Given the description of an element on the screen output the (x, y) to click on. 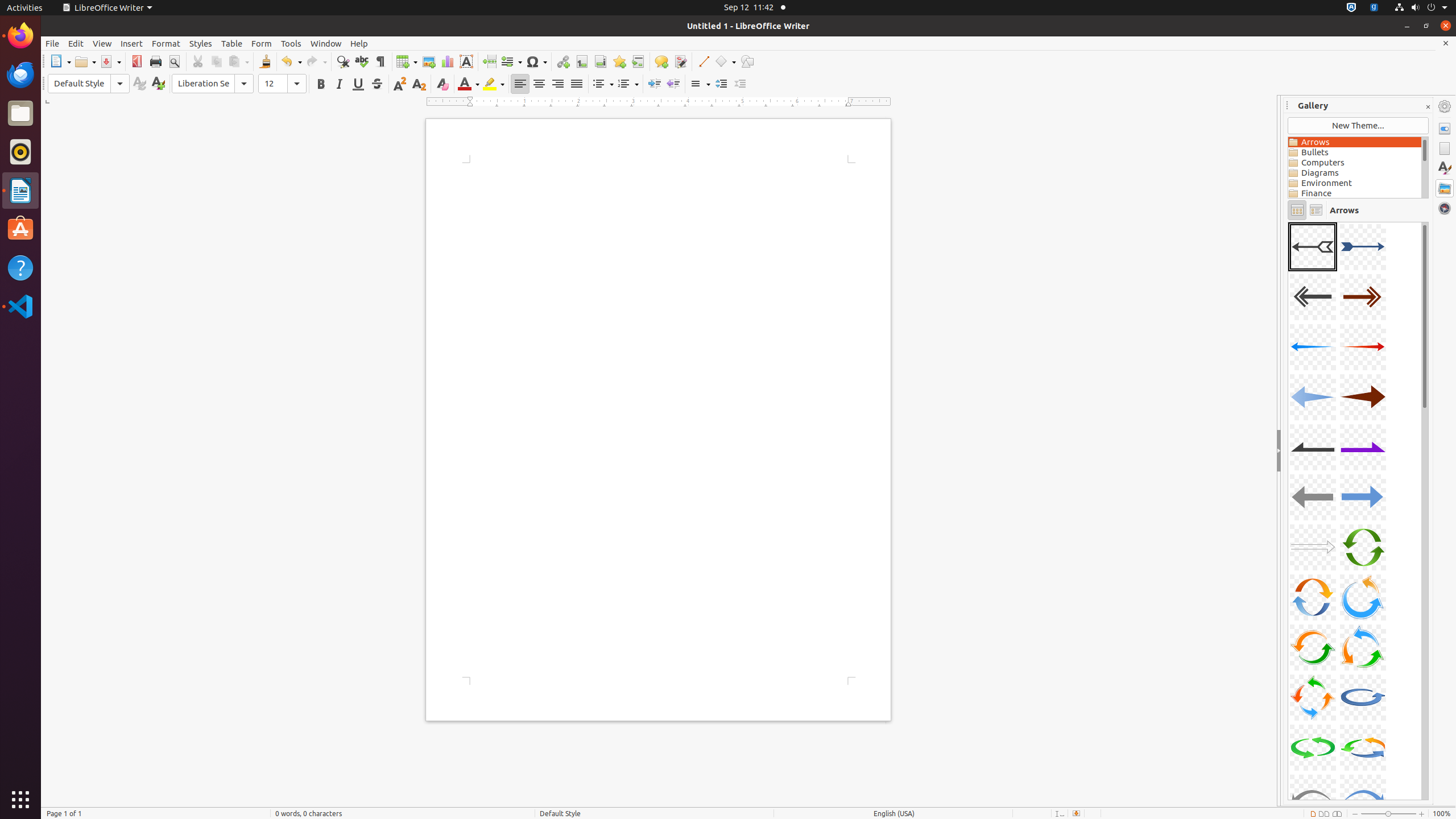
System Element type: menu (1420, 7)
Diagrams Element type: list-item (1354, 172)
Spelling Element type: push-button (361, 61)
Icon View Element type: toggle-button (1296, 210)
Track Changes Functions Element type: toggle-button (679, 61)
